Given the description of an element on the screen output the (x, y) to click on. 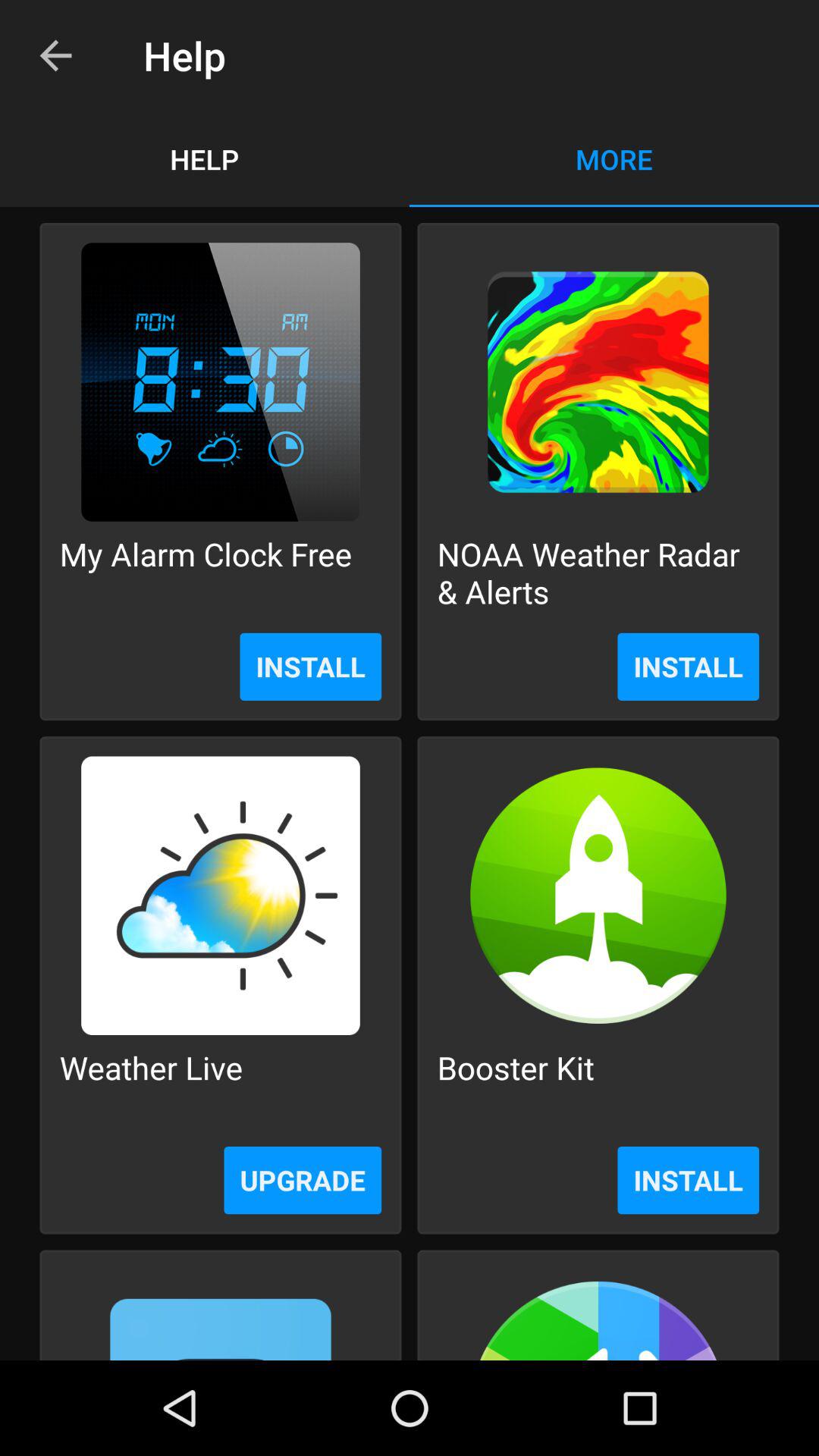
tap the item to the left of help item (55, 55)
